Given the description of an element on the screen output the (x, y) to click on. 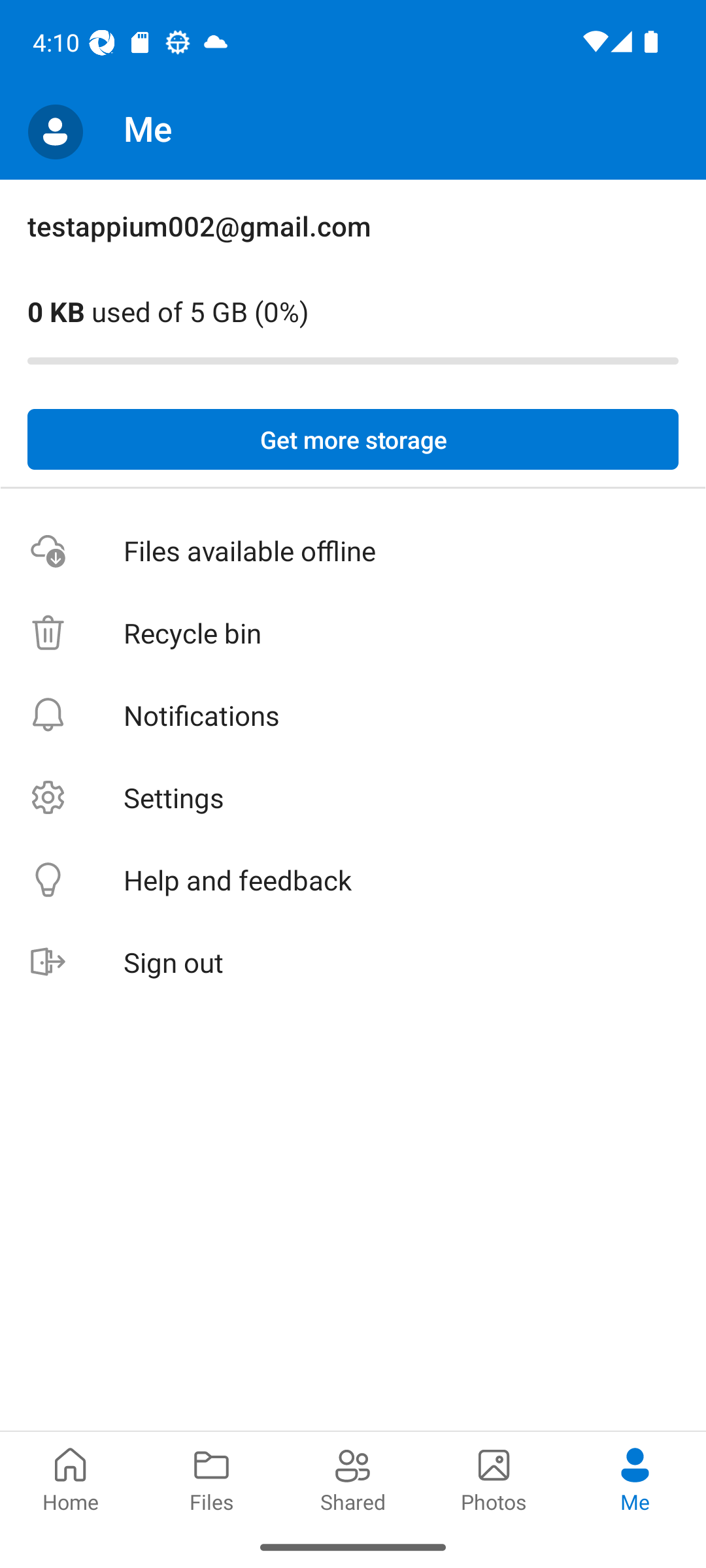
Account switcher (55, 131)
Get more storage (352, 439)
Files available offline (353, 550)
Recycle bin (353, 633)
Notifications (353, 714)
Settings (353, 796)
Help and feedback (353, 879)
Sign out (353, 962)
Home pivot Home (70, 1478)
Files pivot Files (211, 1478)
Shared pivot Shared (352, 1478)
Photos pivot Photos (493, 1478)
